Given the description of an element on the screen output the (x, y) to click on. 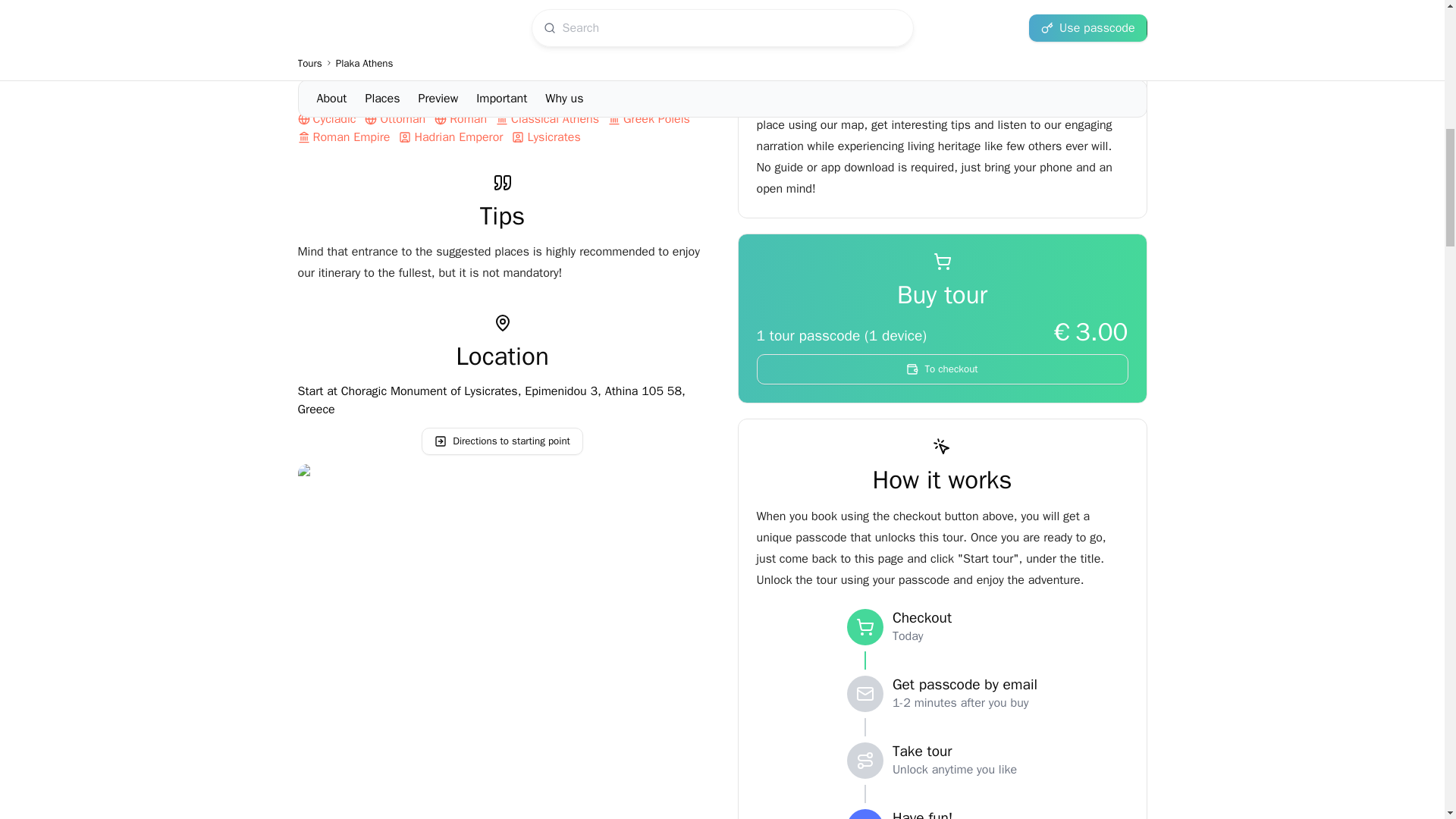
Cycladic (326, 119)
Art (486, 101)
Roman Empire (343, 137)
Directions to starting point (502, 441)
Ancient Greek (619, 101)
Classical Athens (547, 119)
Start tour (1104, 795)
Greek Poleis (649, 119)
Ancient (537, 101)
Hadrian Emperor (450, 137)
